Given the description of an element on the screen output the (x, y) to click on. 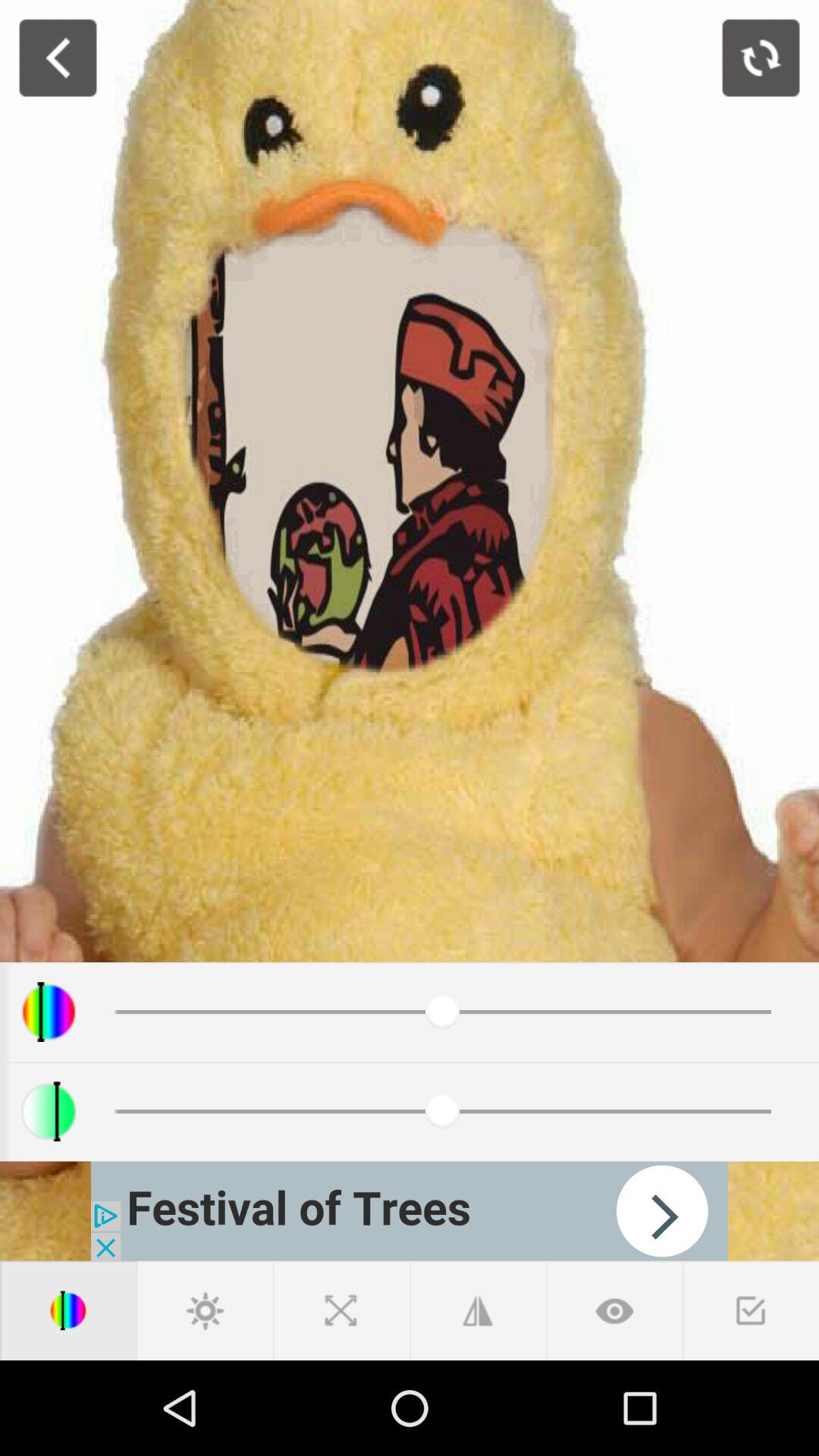
goto next (614, 1310)
